Given the description of an element on the screen output the (x, y) to click on. 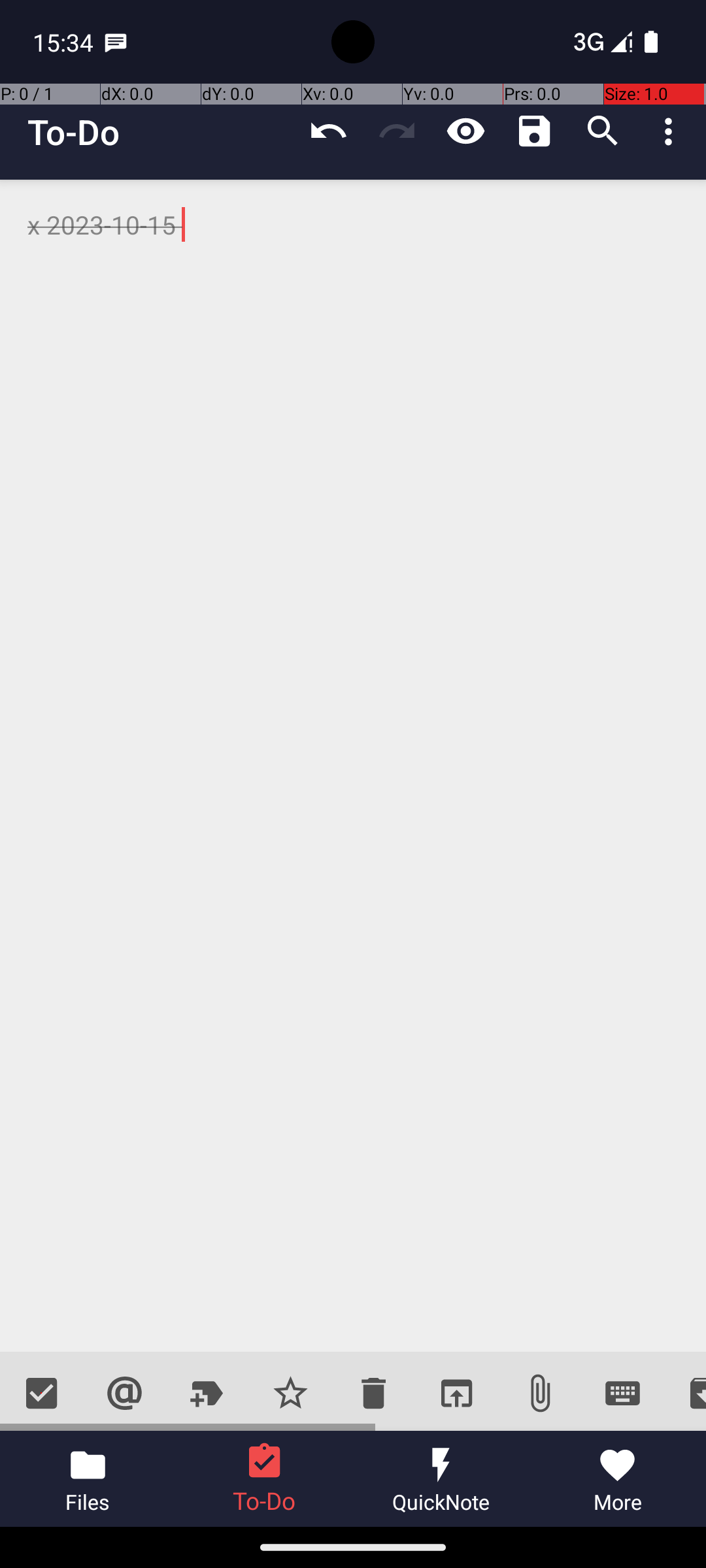
x 2023-10-15  Element type: android.widget.EditText (353, 765)
Toggle done Element type: android.widget.ImageView (41, 1392)
Add context Element type: android.widget.ImageView (124, 1392)
Add project Element type: android.widget.ImageView (207, 1392)
Archive completed tasks Element type: android.widget.ImageView (685, 1392)
